Given the description of an element on the screen output the (x, y) to click on. 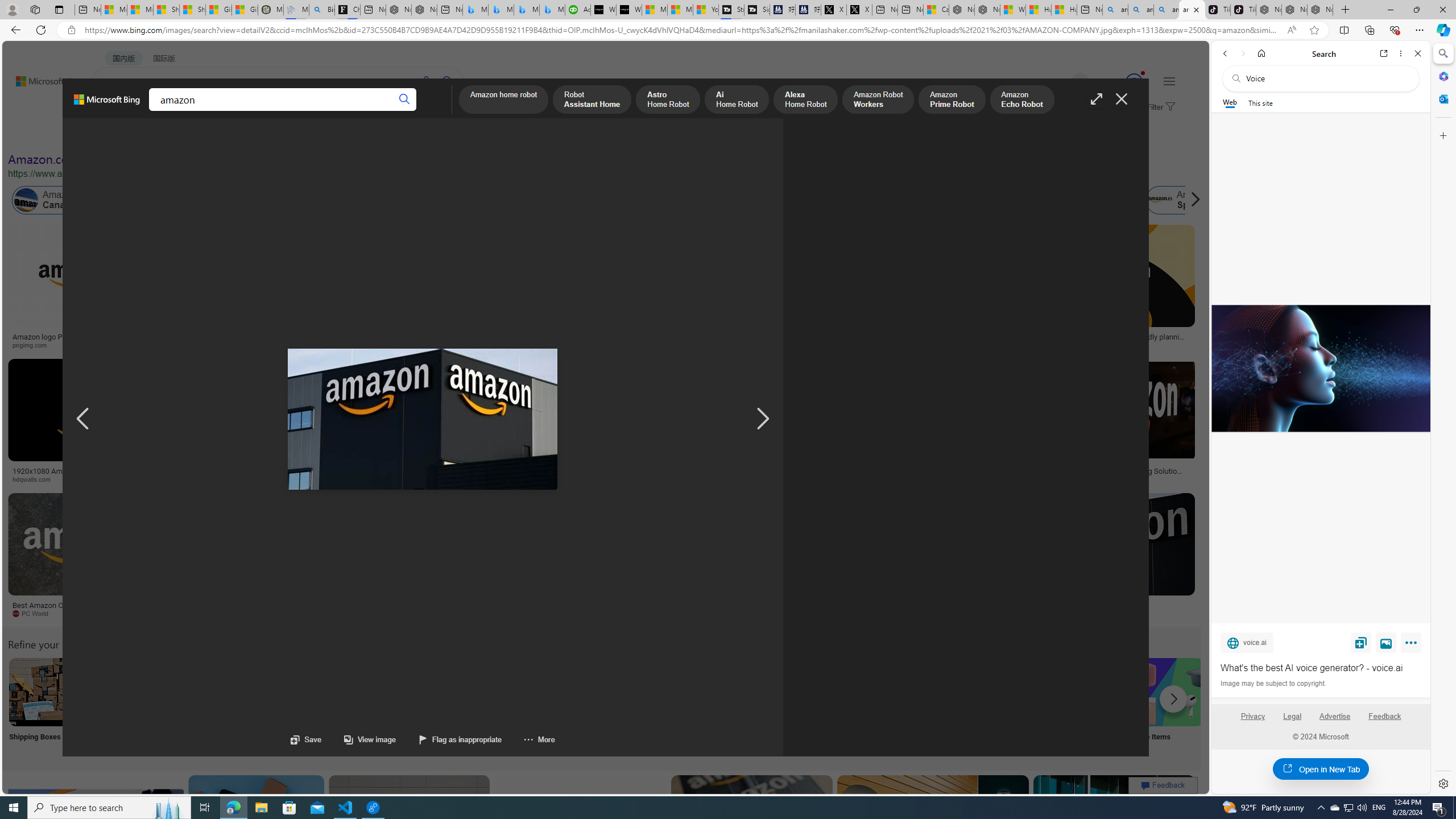
Advertise (1334, 720)
Split screen (1344, 29)
protothema.gr (1043, 612)
Amazon (1032, 605)
Legal (1291, 715)
Microsoft Bing, Back to Bing search (106, 104)
Back (1225, 53)
Listen: What's next for Amazon? (363, 336)
